Given the description of an element on the screen output the (x, y) to click on. 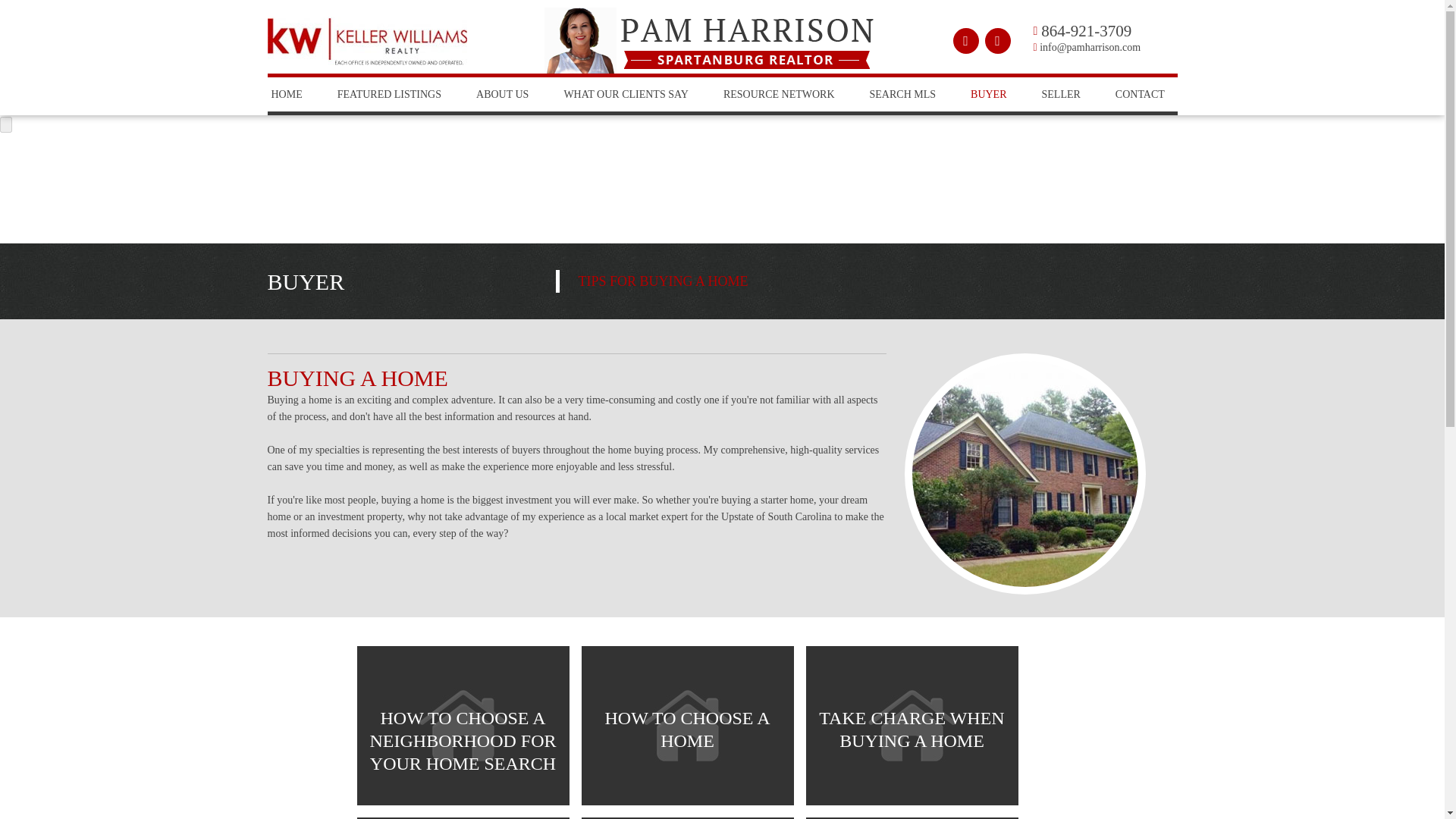
RESOURCE NETWORK (778, 93)
TAKE CHARGE WHEN BUYING A HOME (911, 726)
CONTACT (1139, 93)
How to Choose a Home (686, 725)
WHAT OUR CLIENTS SAY (625, 93)
BUYER (988, 93)
FEATURED LISTINGS (389, 93)
Take Charge When Buying a Home (911, 725)
How to Choose a Neighborhood for Your Home Search (462, 725)
HOW TO CHOOSE A HOME (686, 726)
SELLER (1061, 93)
HOW TO CHOOSE A NEIGHBORHOOD FOR YOUR HOME SEARCH (462, 726)
Pam Harrison (748, 42)
SEARCH MLS (902, 93)
